Given the description of an element on the screen output the (x, y) to click on. 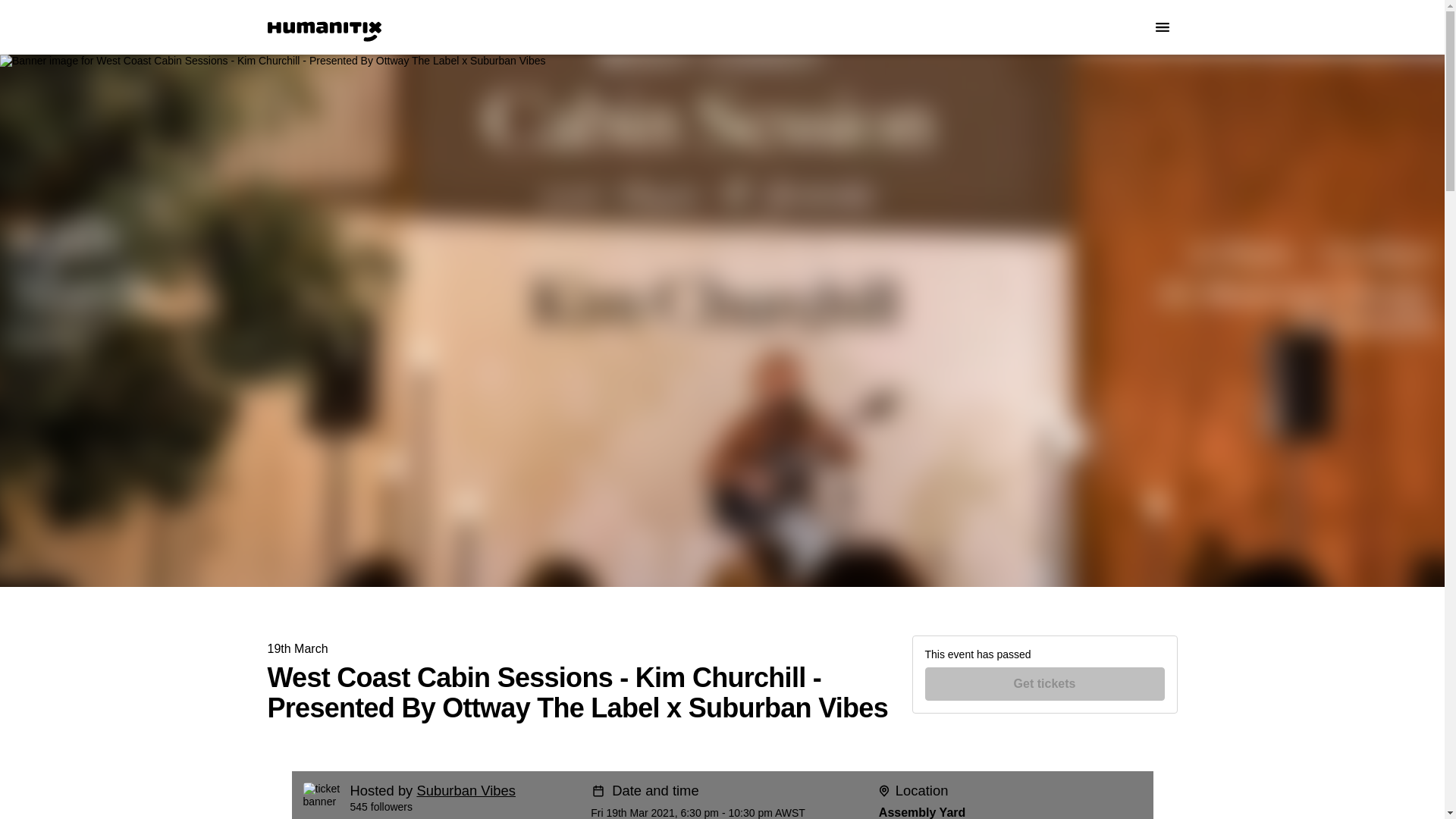
Get tickets (1044, 684)
Suburban Vibes (465, 790)
Skip to Content (18, 18)
